Given the description of an element on the screen output the (x, y) to click on. 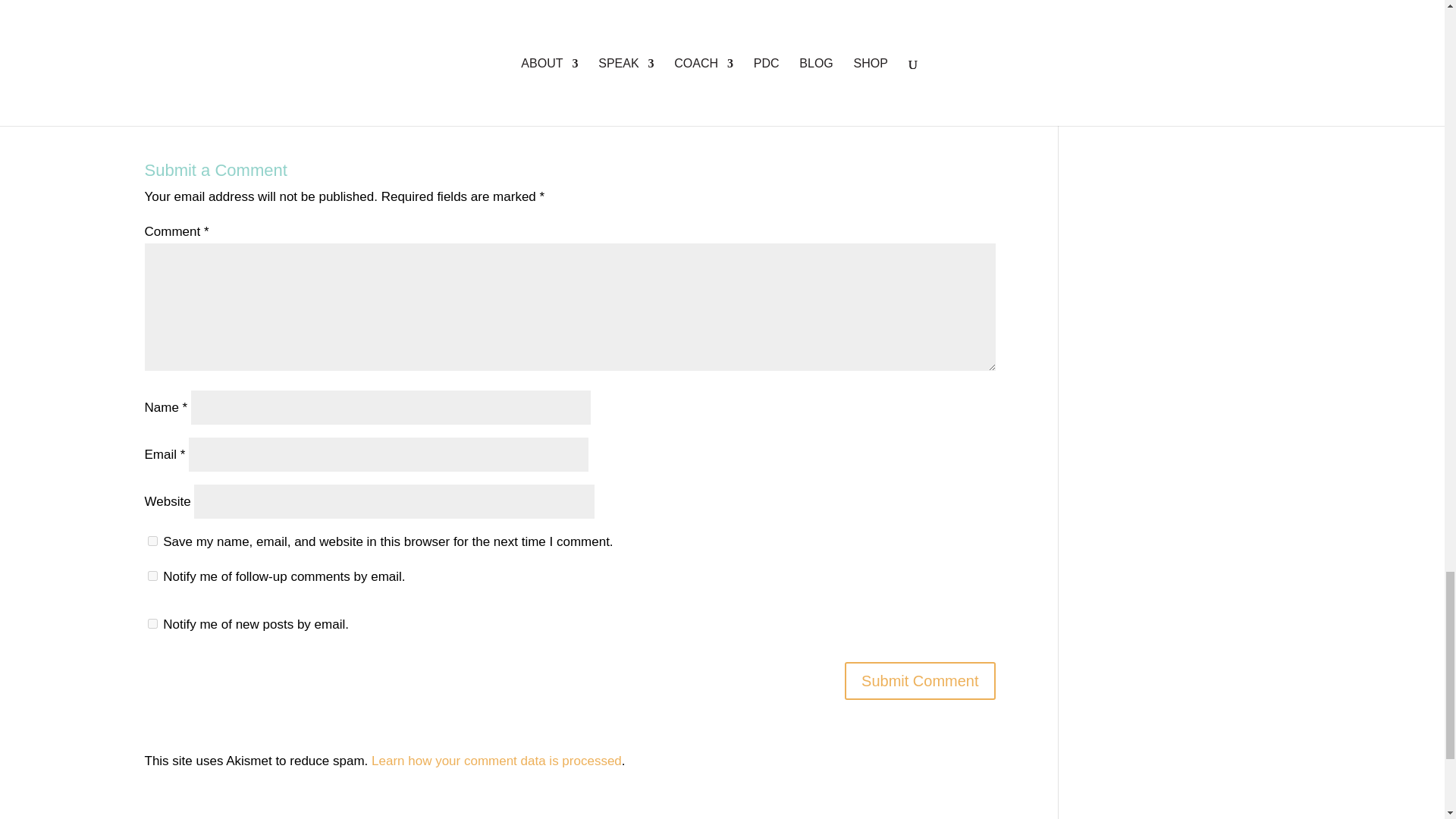
Submit Comment (919, 680)
Click to share on Twitter (156, 56)
Learn how your comment data is processed (496, 760)
subscribe (152, 623)
yes (152, 541)
subscribe (152, 575)
Click to share on Facebook (186, 56)
Submit Comment (919, 680)
